Given the description of an element on the screen output the (x, y) to click on. 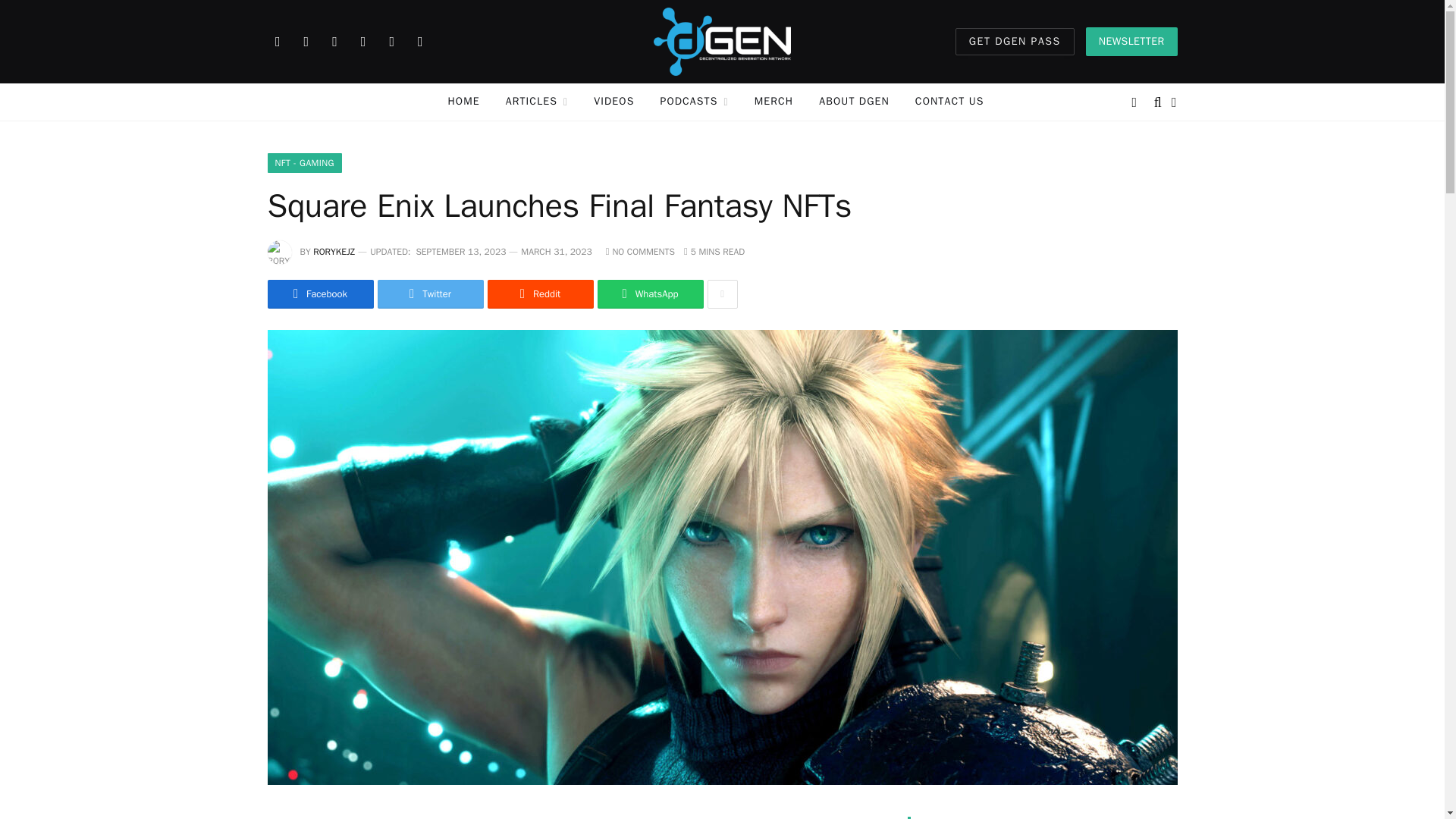
HOME (464, 101)
ARTICLES (536, 101)
GET DGEN PASS (1014, 41)
NEWSLETTER (1131, 41)
dGEN Network (721, 41)
